Given the description of an element on the screen output the (x, y) to click on. 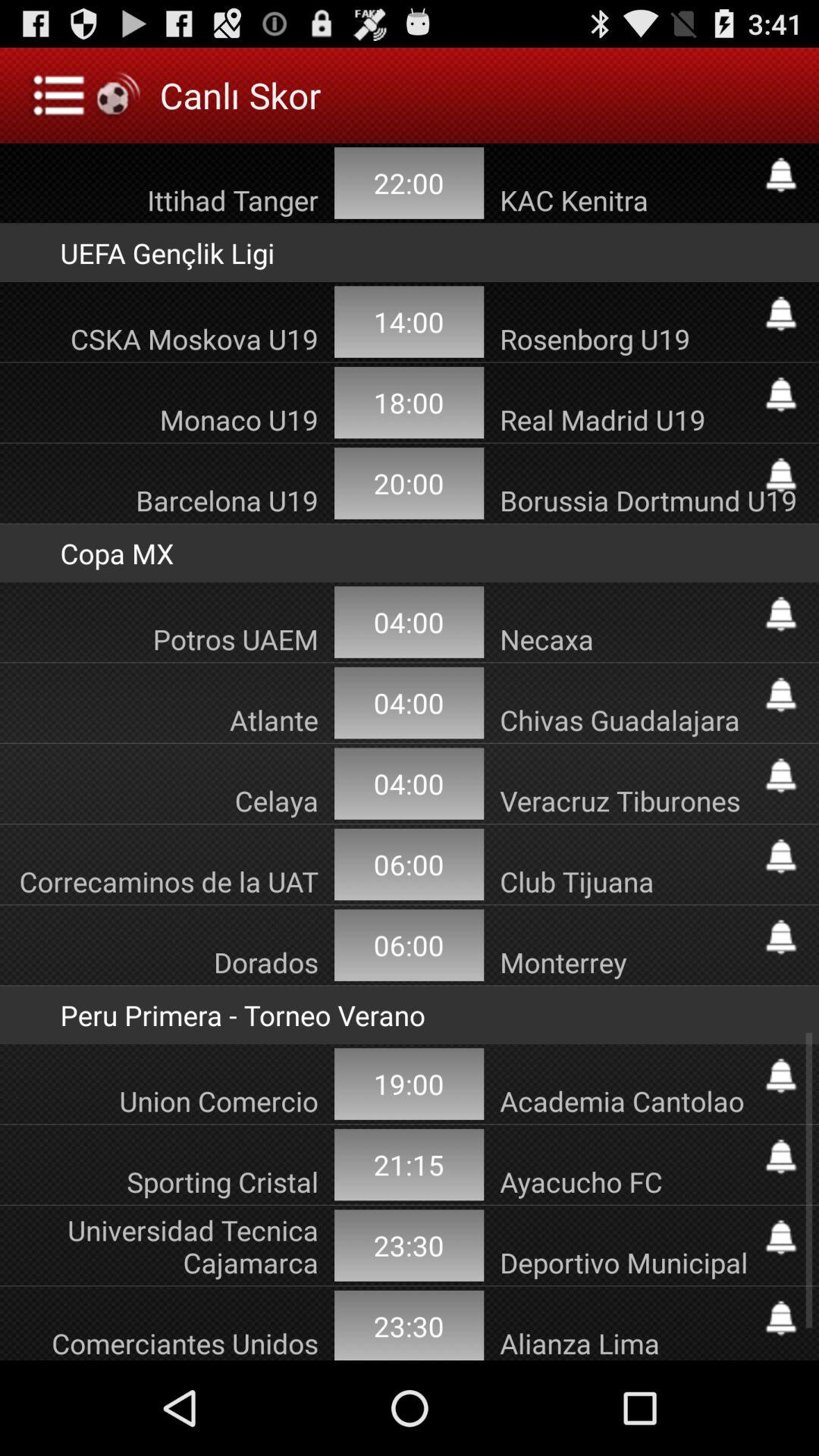
toggle alarm (780, 937)
